Given the description of an element on the screen output the (x, y) to click on. 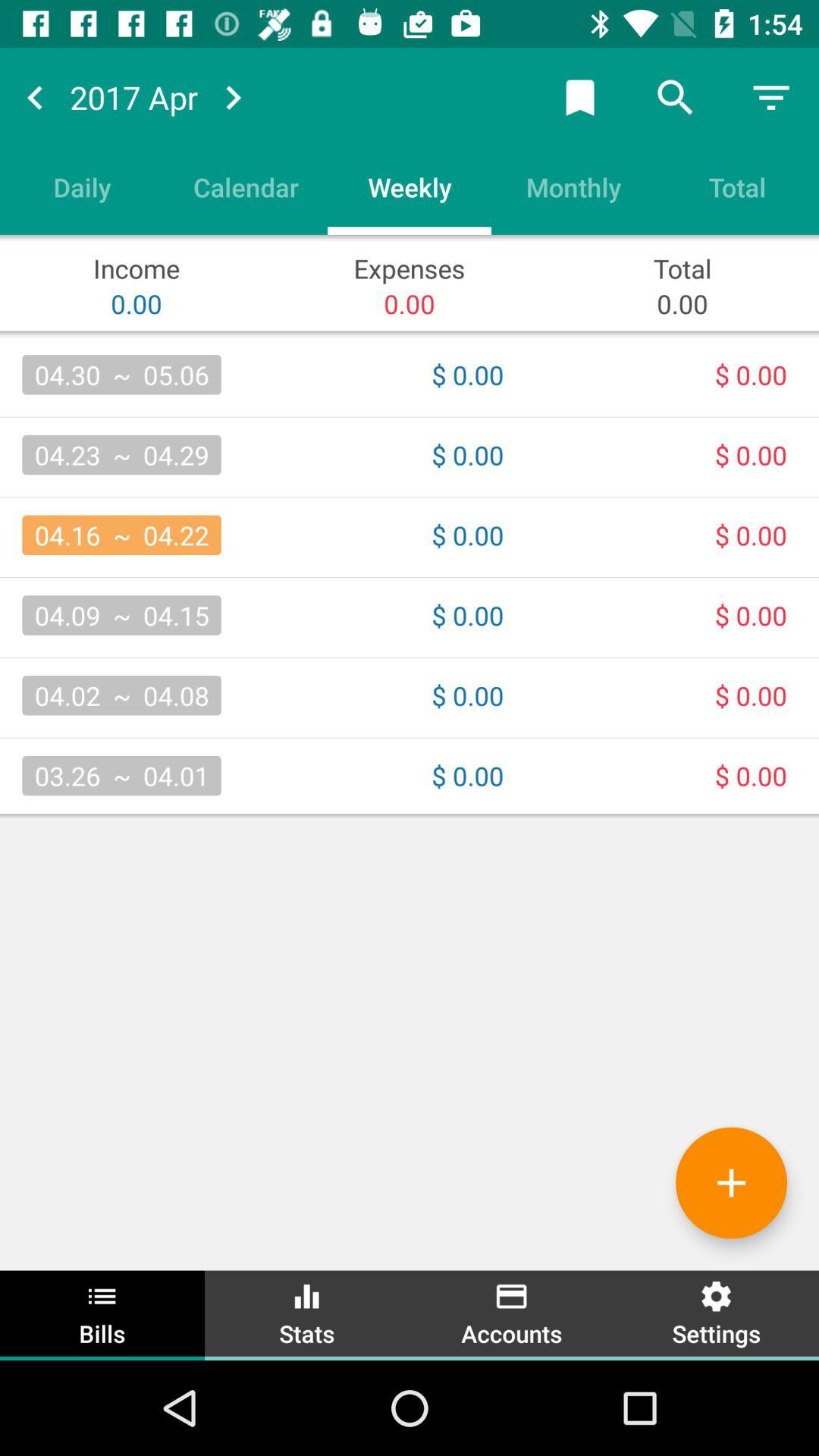
bookmark this view (579, 97)
